Given the description of an element on the screen output the (x, y) to click on. 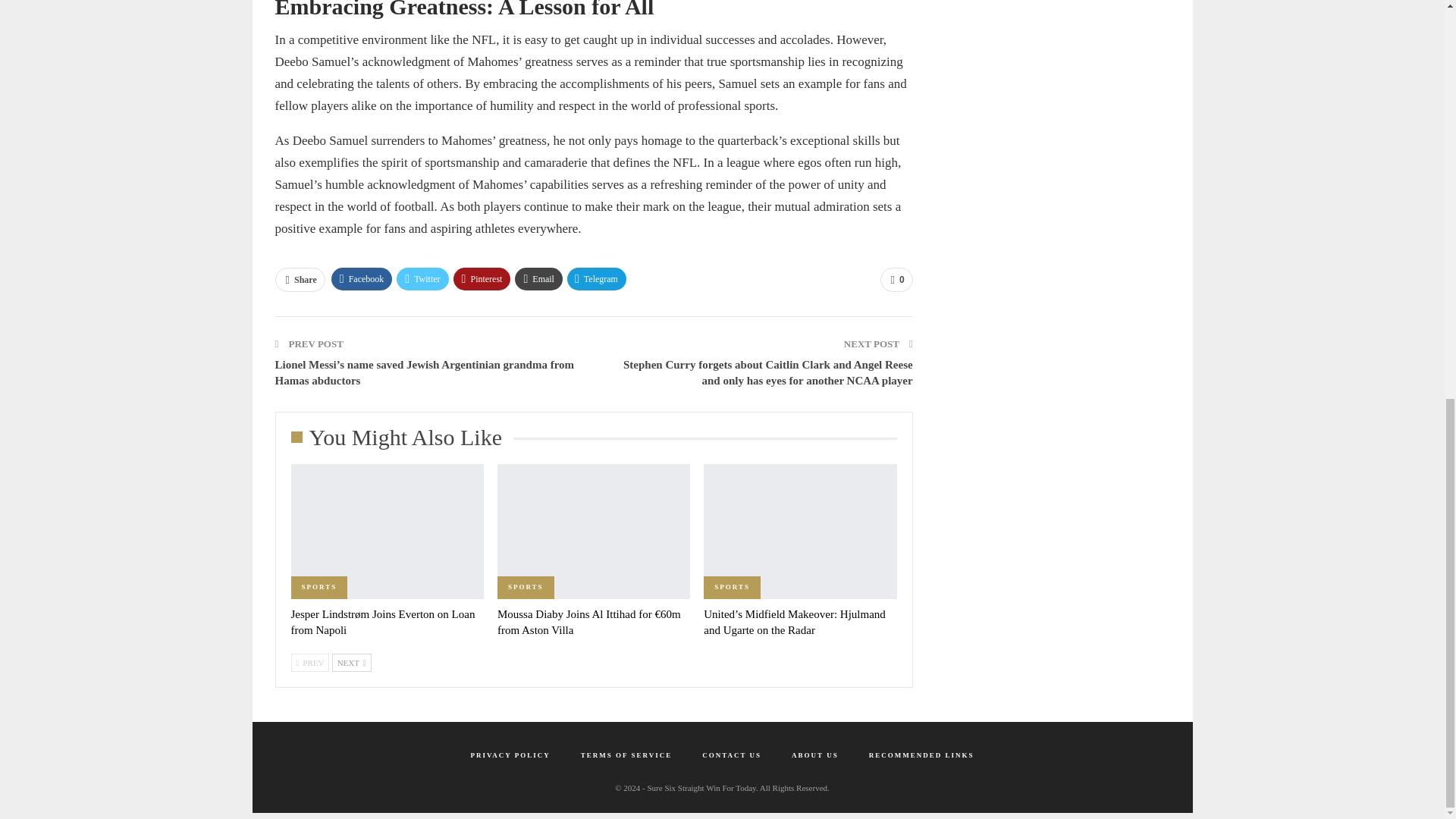
Facebook (362, 278)
Previous (310, 662)
0 (896, 279)
Twitter (422, 278)
Email (538, 278)
Next (351, 662)
SPORTS (525, 587)
Telegram (596, 278)
SPORTS (319, 587)
Pinterest (481, 278)
NEXT (351, 662)
SPORTS (731, 587)
You Might Also Like (402, 440)
PREV (310, 662)
